Given the description of an element on the screen output the (x, y) to click on. 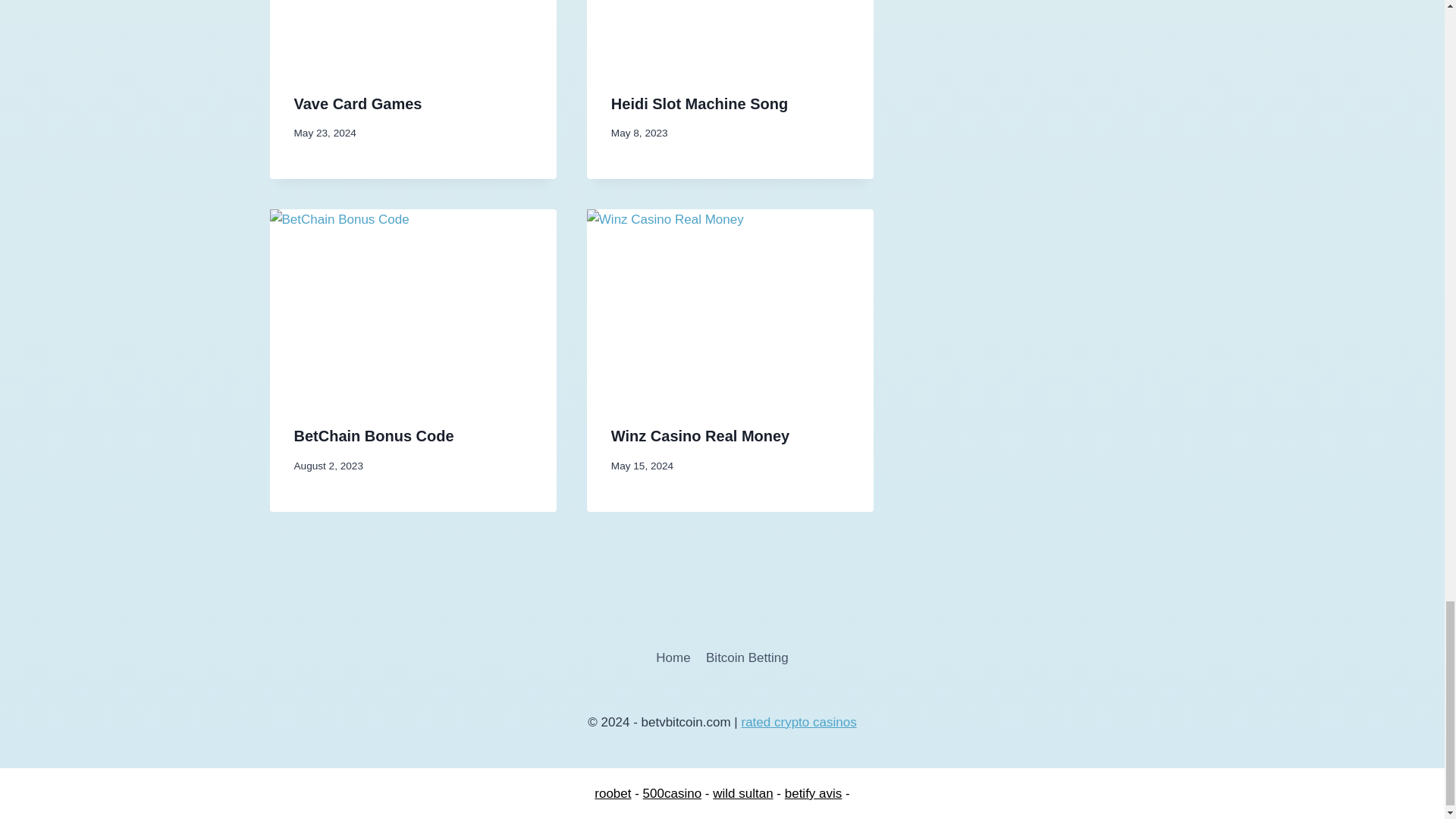
Vave Card Games (358, 103)
BetChain Bonus Code (374, 435)
Winz Casino Real Money (700, 435)
Heidi Slot Machine Song (699, 103)
